Given the description of an element on the screen output the (x, y) to click on. 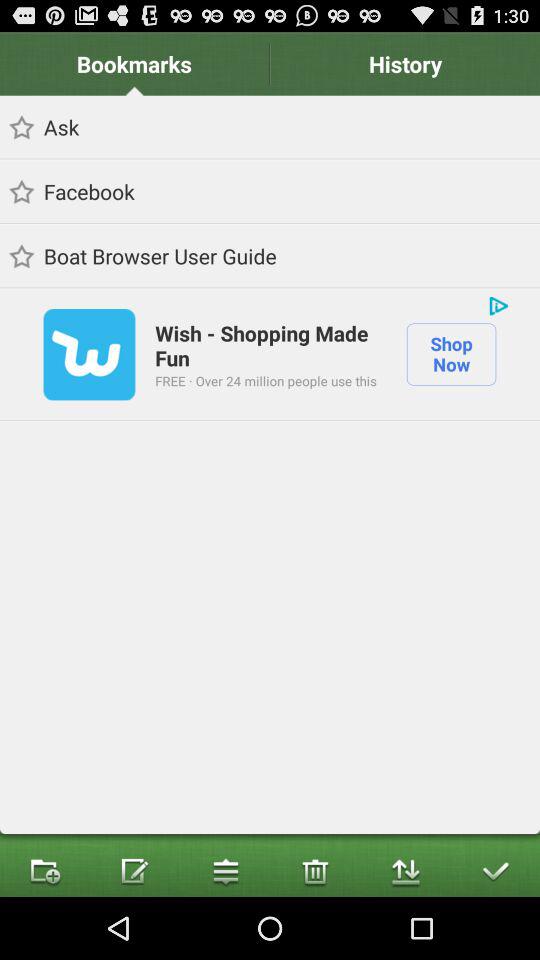
turn off icon below shop now item (494, 870)
